Given the description of an element on the screen output the (x, y) to click on. 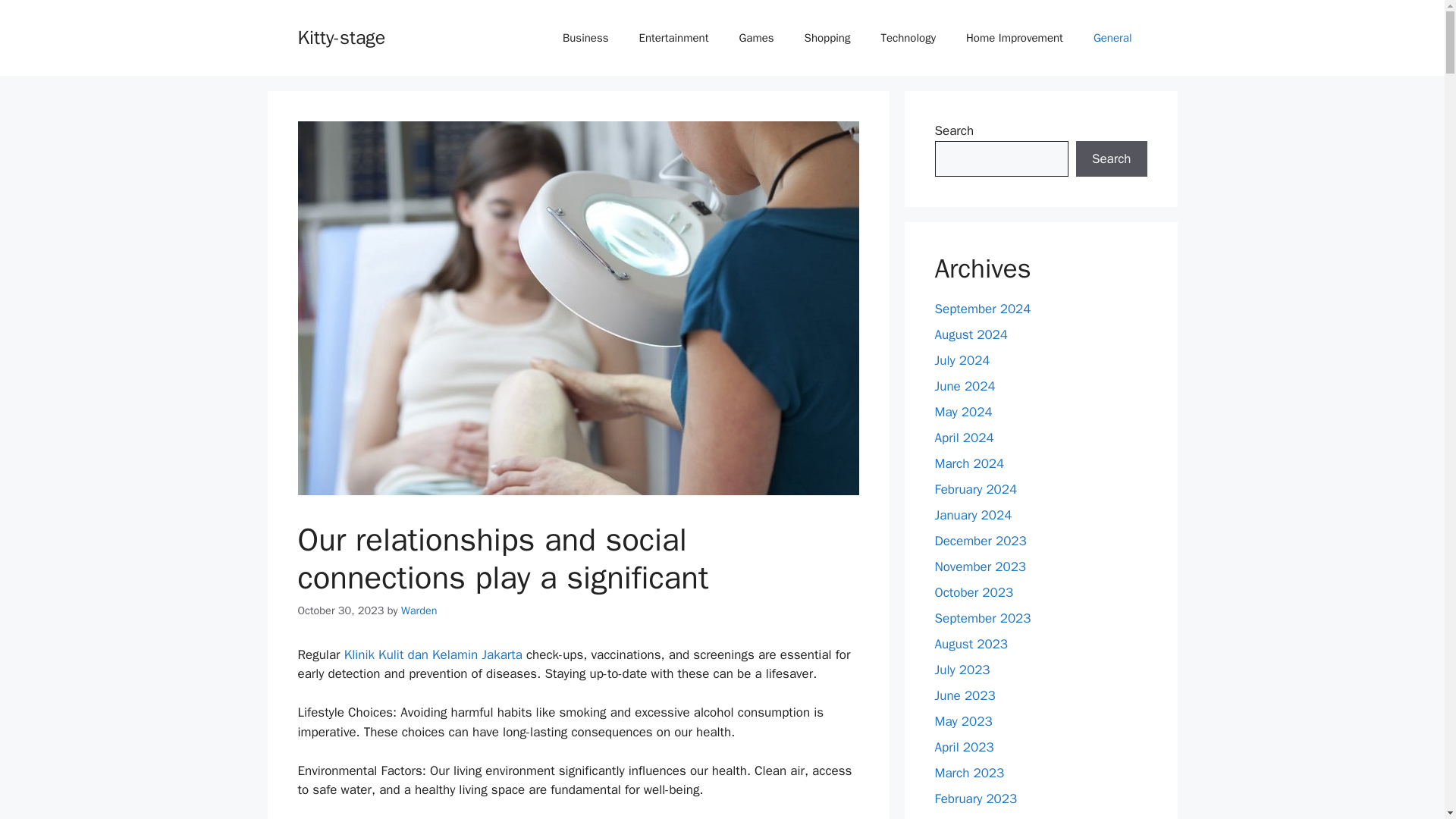
Games (756, 37)
November 2023 (980, 566)
June 2024 (964, 385)
September 2024 (982, 308)
Technology (907, 37)
Entertainment (673, 37)
General (1112, 37)
Shopping (827, 37)
Warden (419, 610)
Klinik Kulit dan Kelamin Jakarta (432, 654)
